Given the description of an element on the screen output the (x, y) to click on. 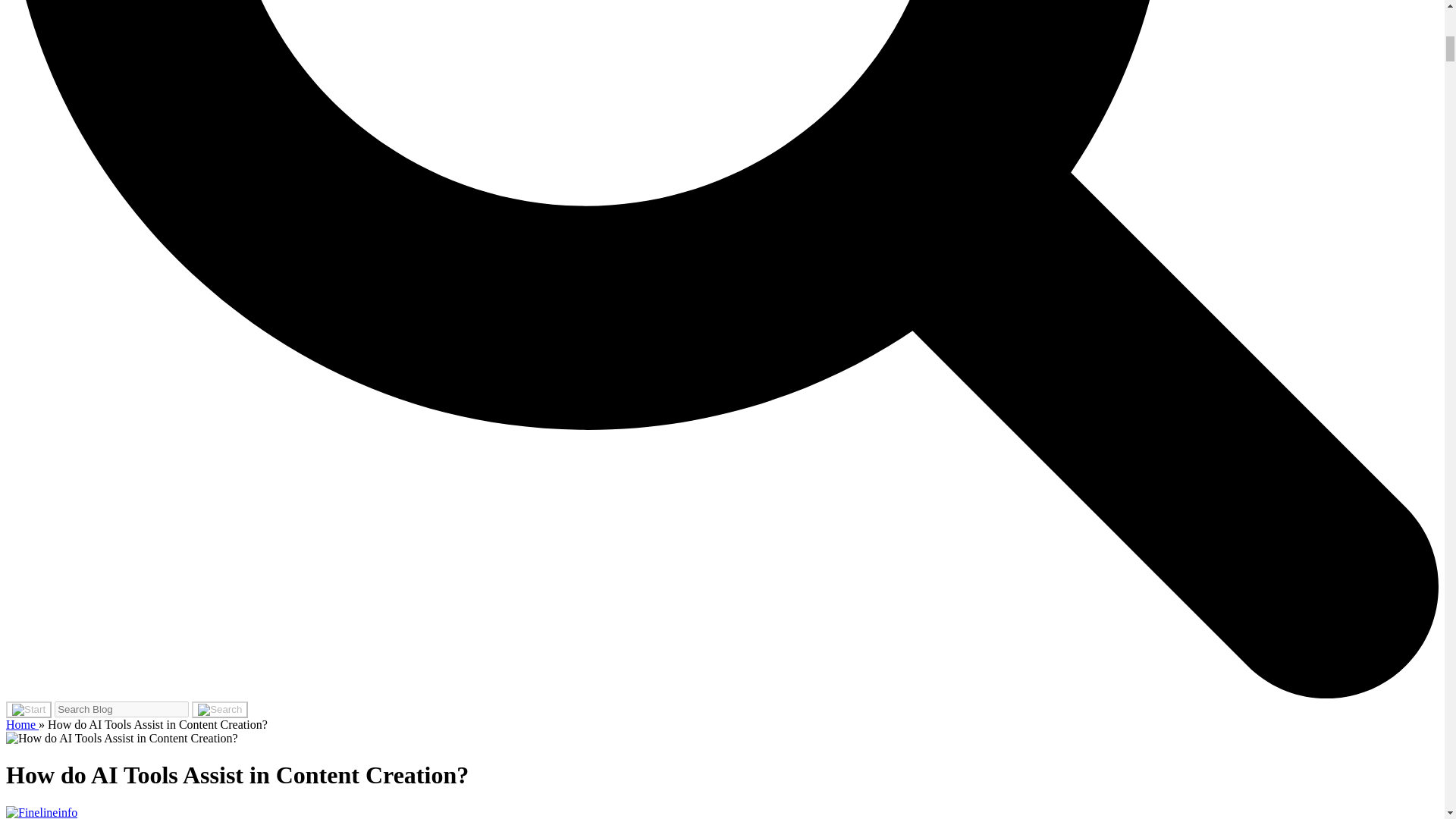
Blog  Home (22, 724)
Home (22, 724)
